Given the description of an element on the screen output the (x, y) to click on. 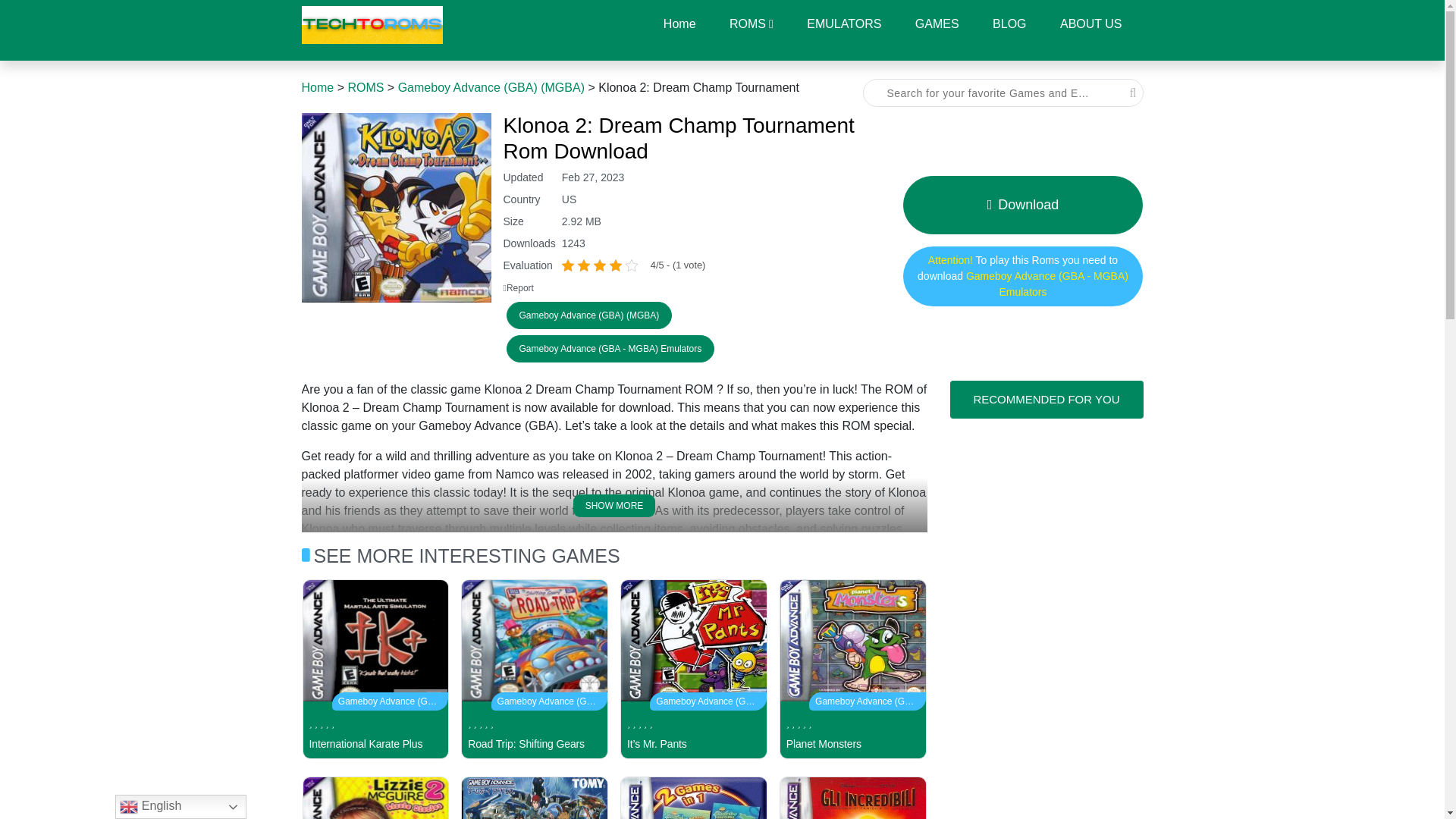
SpongeBob SquarePants Gamepack 1 ROM (693, 797)
EMULATORS (843, 23)
Lizzie McGuire 2: Lizzie Diaries (374, 797)
Gli Incredibili (852, 797)
Report (518, 287)
Home (678, 23)
Download (1022, 205)
GAMES (936, 23)
Zoids Saga II (534, 797)
BLOG (1008, 23)
SHOW MORE (614, 505)
Home (317, 87)
ROMS (365, 87)
ROMS (751, 23)
ABOUT US (1091, 23)
